Given the description of an element on the screen output the (x, y) to click on. 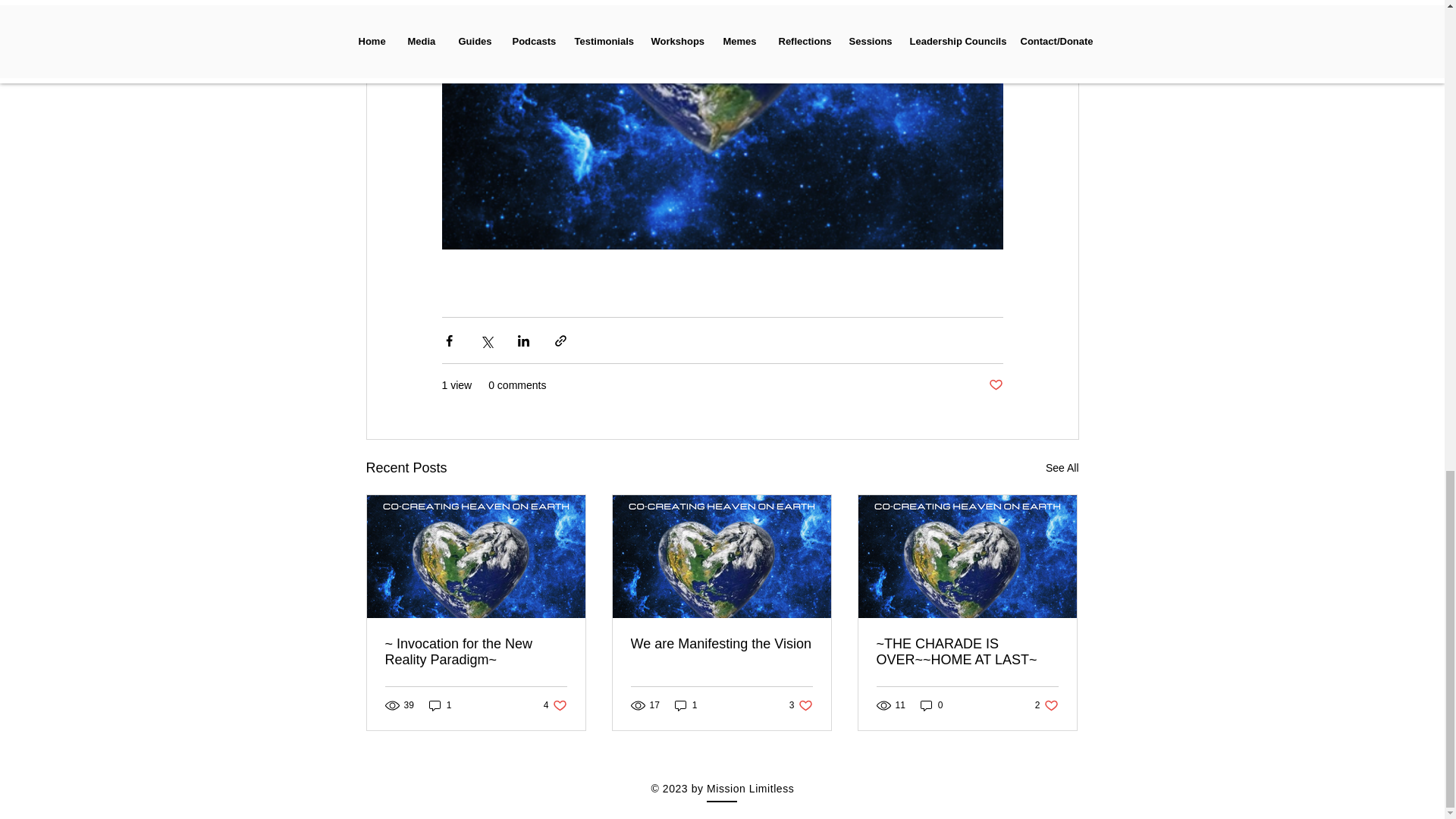
1 (440, 704)
Post not marked as liked (995, 385)
0 (555, 704)
See All (931, 704)
We are Manifesting the Vision (800, 704)
1 (1061, 468)
